Given the description of an element on the screen output the (x, y) to click on. 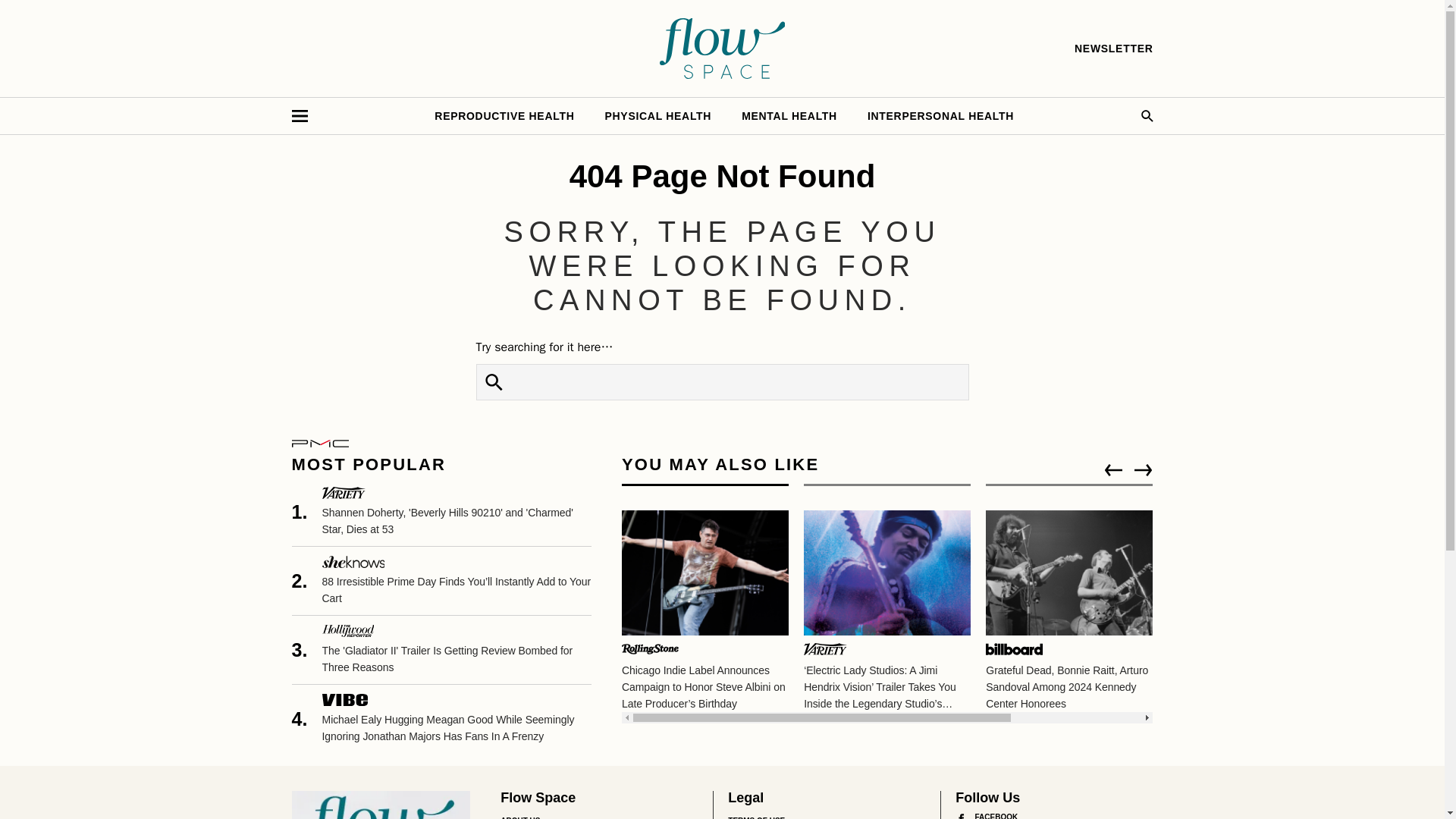
Submit (494, 381)
Open Menu (299, 115)
REPRODUCTIVE HEALTH (503, 115)
INTERPERSONAL HEALTH (940, 115)
MENTAL HEALTH (789, 115)
NEWSLETTER (1113, 48)
Open Search (1146, 115)
PHYSICAL HEALTH (658, 115)
